Given the description of an element on the screen output the (x, y) to click on. 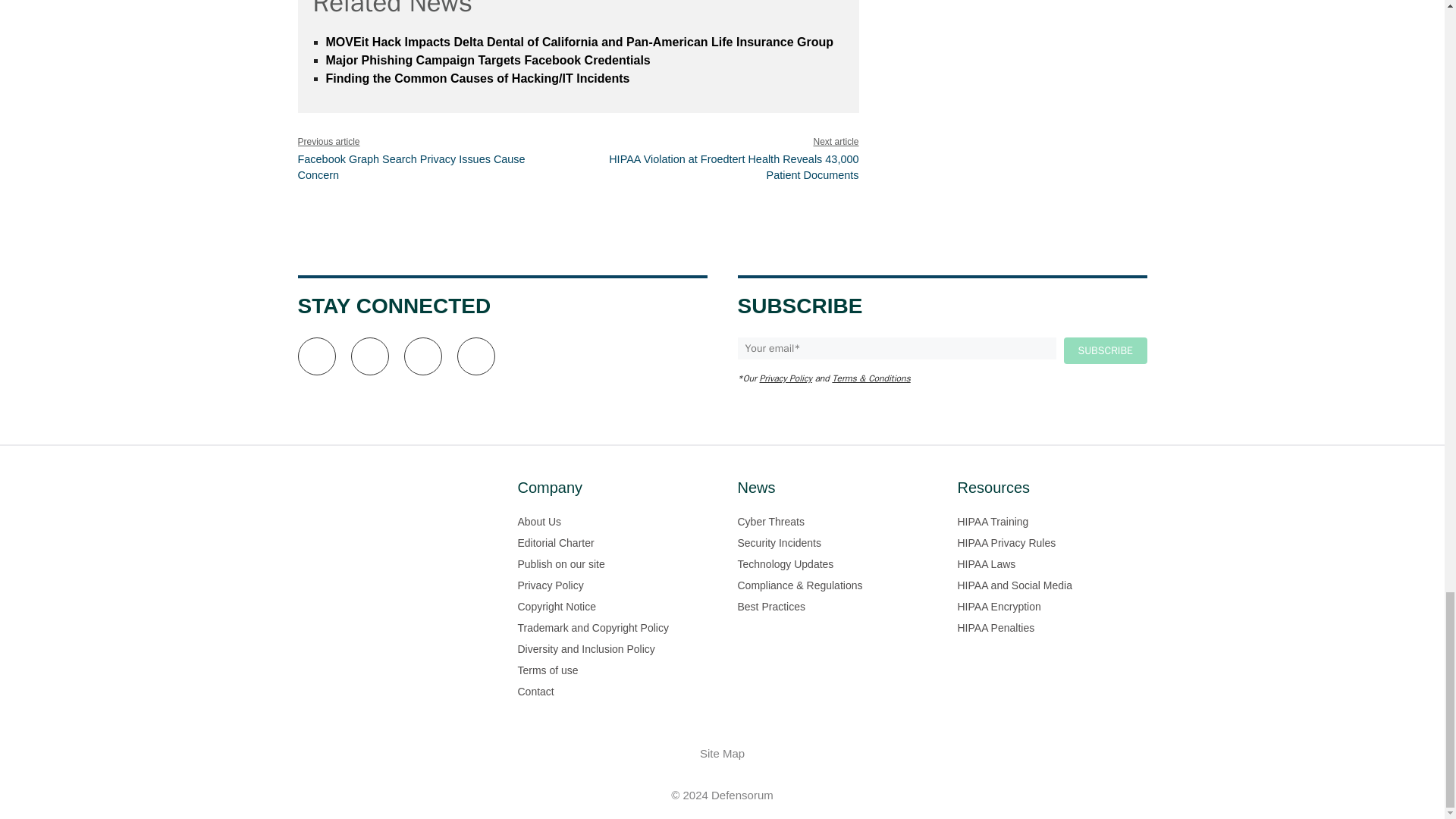
Previous (410, 167)
Next (733, 167)
Subscribe (1104, 350)
Major Phishing Campaign Targets Facebook Credentials (488, 60)
Major Phishing Campaign Targets Facebook Credentials (488, 60)
Facebook Graph Search Privacy Issues Cause Concern (410, 167)
